Given the description of an element on the screen output the (x, y) to click on. 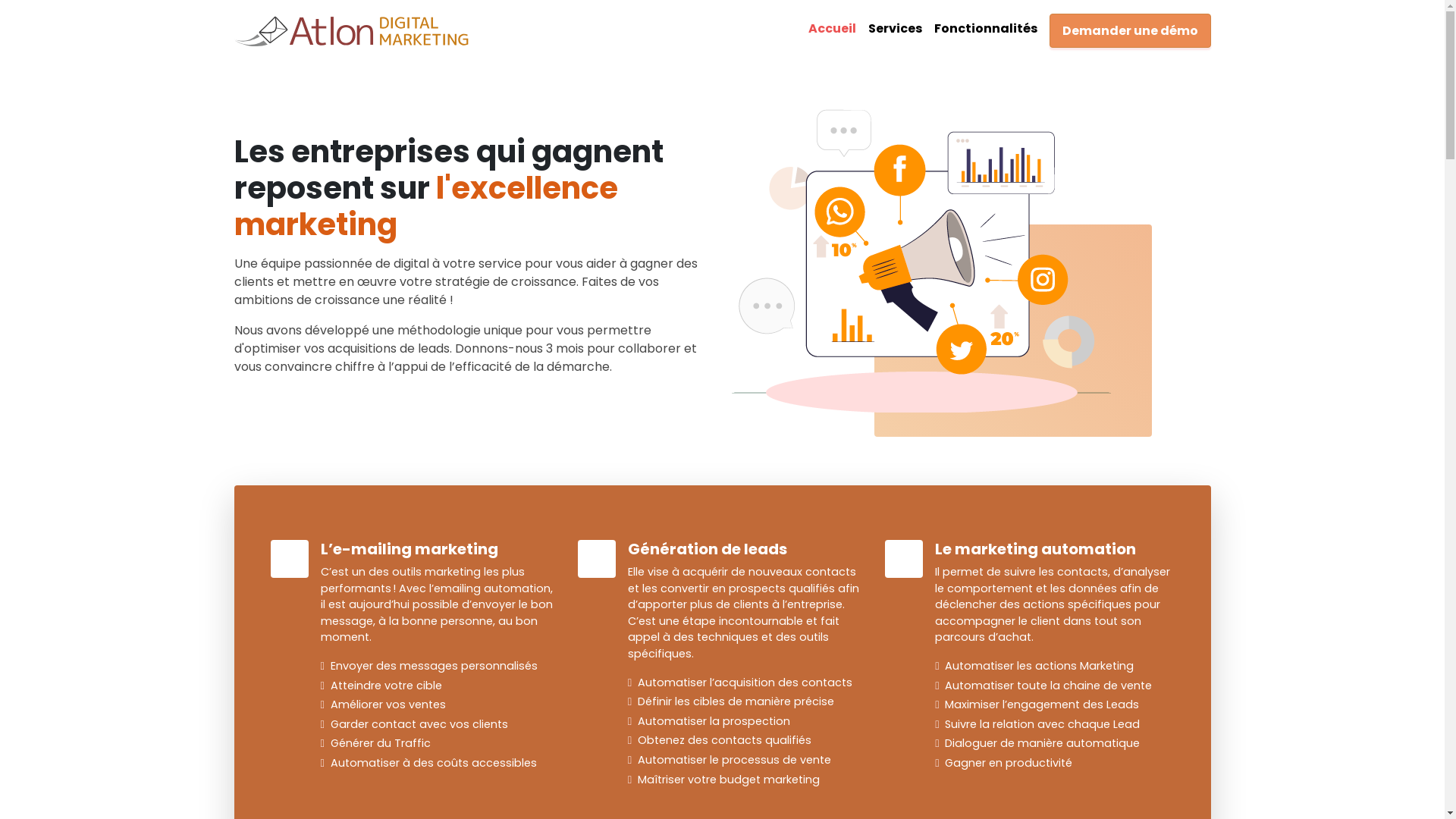
Accueil Element type: text (832, 28)
Services Element type: text (894, 28)
